Given the description of an element on the screen output the (x, y) to click on. 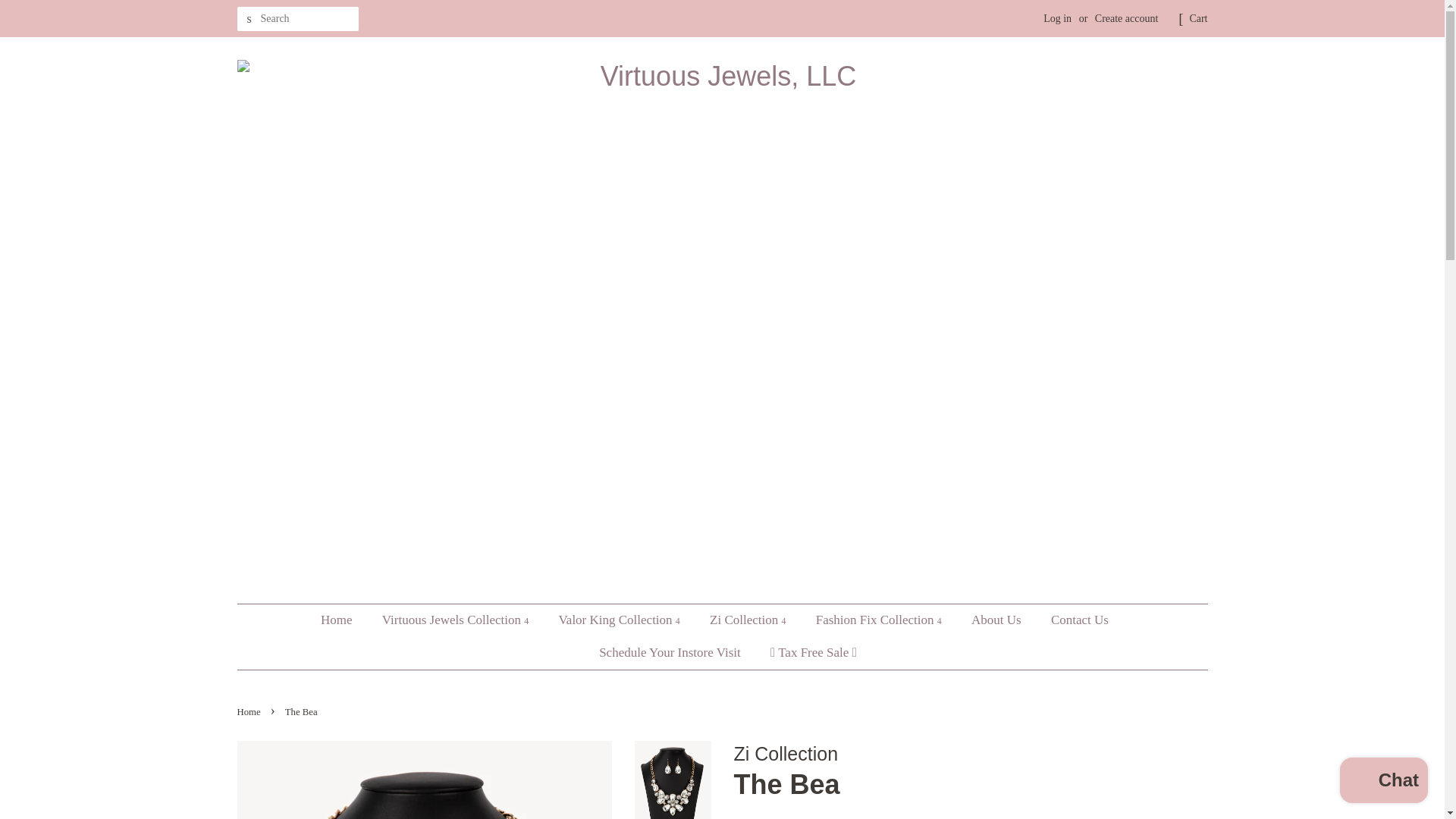
Cart (1198, 18)
Create account (1126, 18)
Search (247, 18)
Shopify online store chat (1383, 781)
Back to the frontpage (249, 711)
Log in (1057, 18)
